Given the description of an element on the screen output the (x, y) to click on. 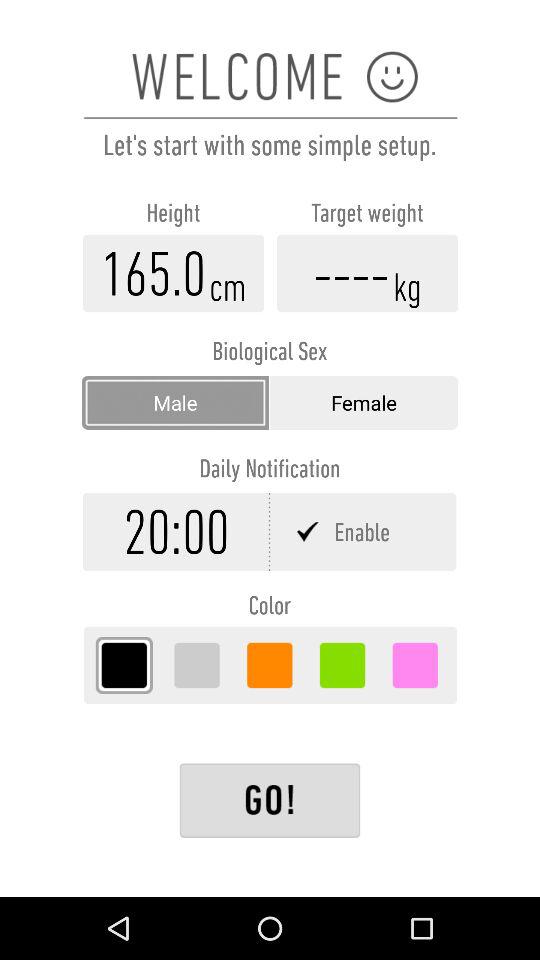
pink colour button (415, 665)
